Given the description of an element on the screen output the (x, y) to click on. 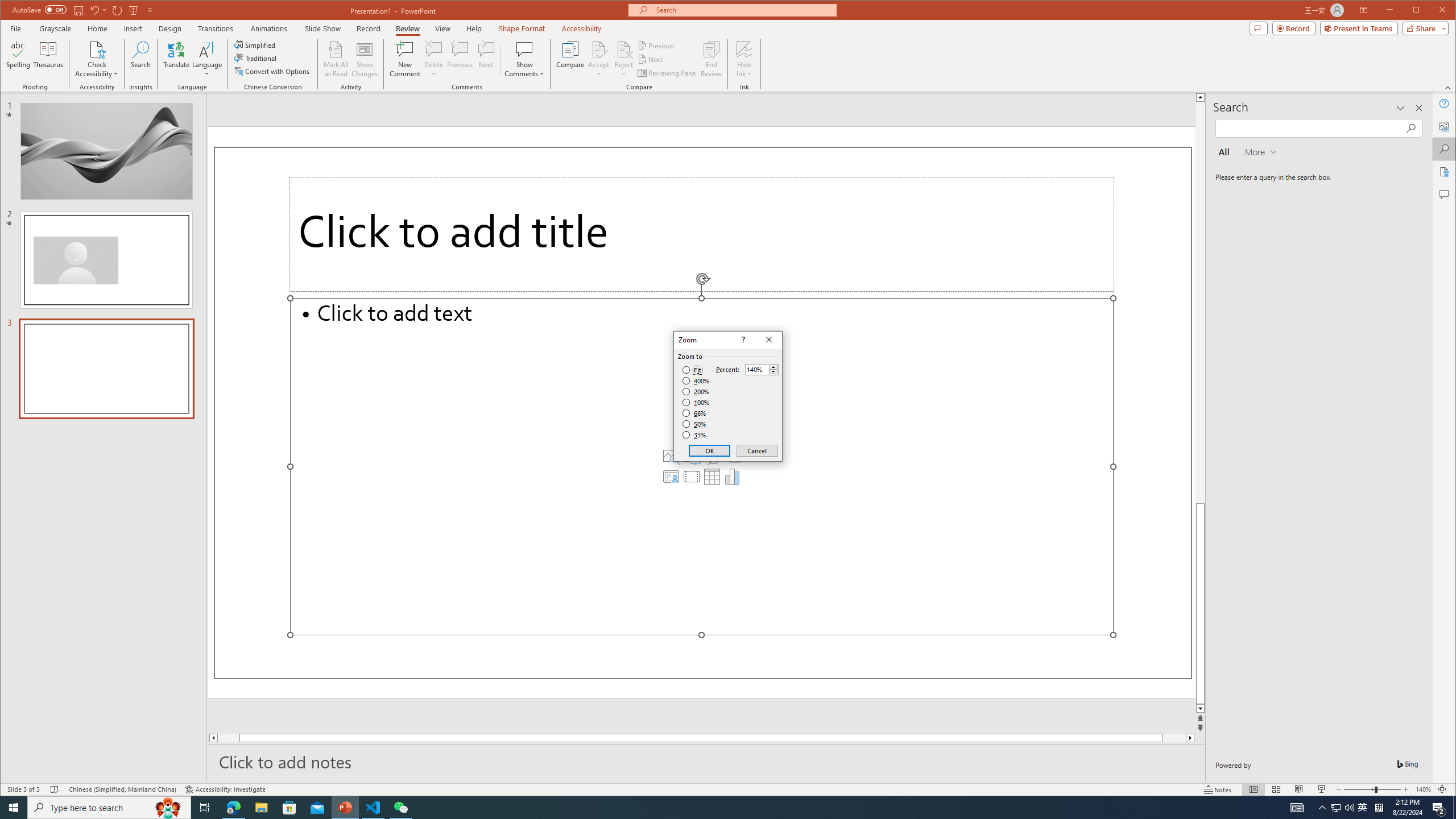
Fit (691, 370)
Percent (756, 369)
Show Changes (365, 59)
Thesaurus... (48, 59)
